Given the description of an element on the screen output the (x, y) to click on. 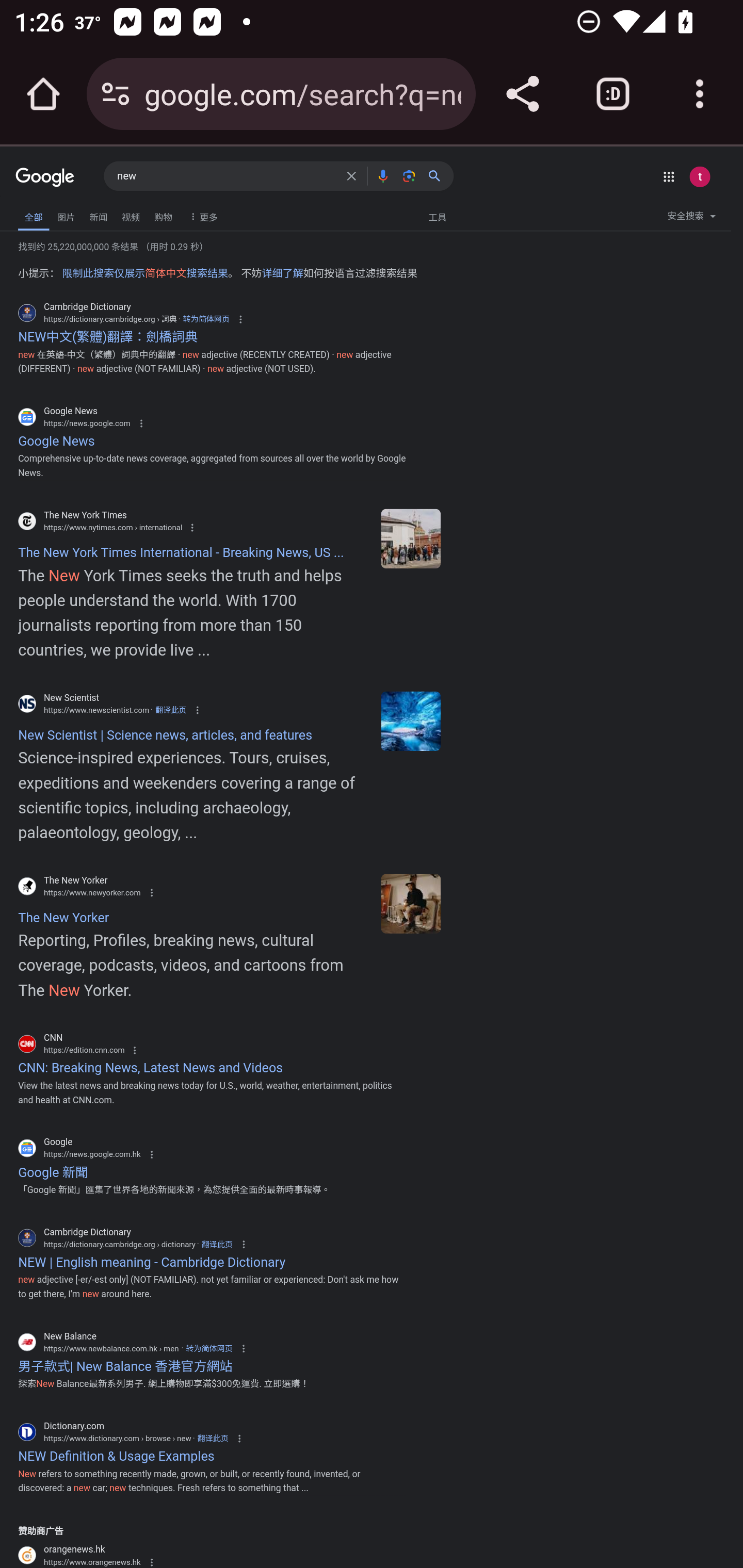
Open the home page (43, 93)
Connection is secure (115, 93)
Share (522, 93)
Switch or close tabs (612, 93)
Customize and control Google Chrome (699, 93)
清除 (351, 175)
按语音搜索 (382, 175)
按图搜索 (408, 175)
搜索 (438, 175)
Google 应用 (668, 176)
Google 账号： test appium (testappium002@gmail.com) (699, 176)
Google (45, 178)
new (225, 176)
无障碍功能反馈 (41, 212)
图片 (65, 215)
新闻 (98, 215)
视频 (131, 215)
购物 (163, 215)
更多 (201, 215)
安全搜索 (691, 218)
工具 (437, 215)
限制此搜索仅展示简体中文搜索结果 限制此搜索仅展示 简体中文 搜索结果 (144, 272)
详细了解 (281, 272)
转为简体网页 (205, 319)
international (410, 537)
www.newscientist (410, 721)
翻译此页 (170, 710)
www.newyorker (410, 903)
翻译此页 (216, 1244)
转为简体网页 (209, 1348)
翻译此页 (212, 1437)
为什么会显示该广告？ (150, 1561)
